Given the description of an element on the screen output the (x, y) to click on. 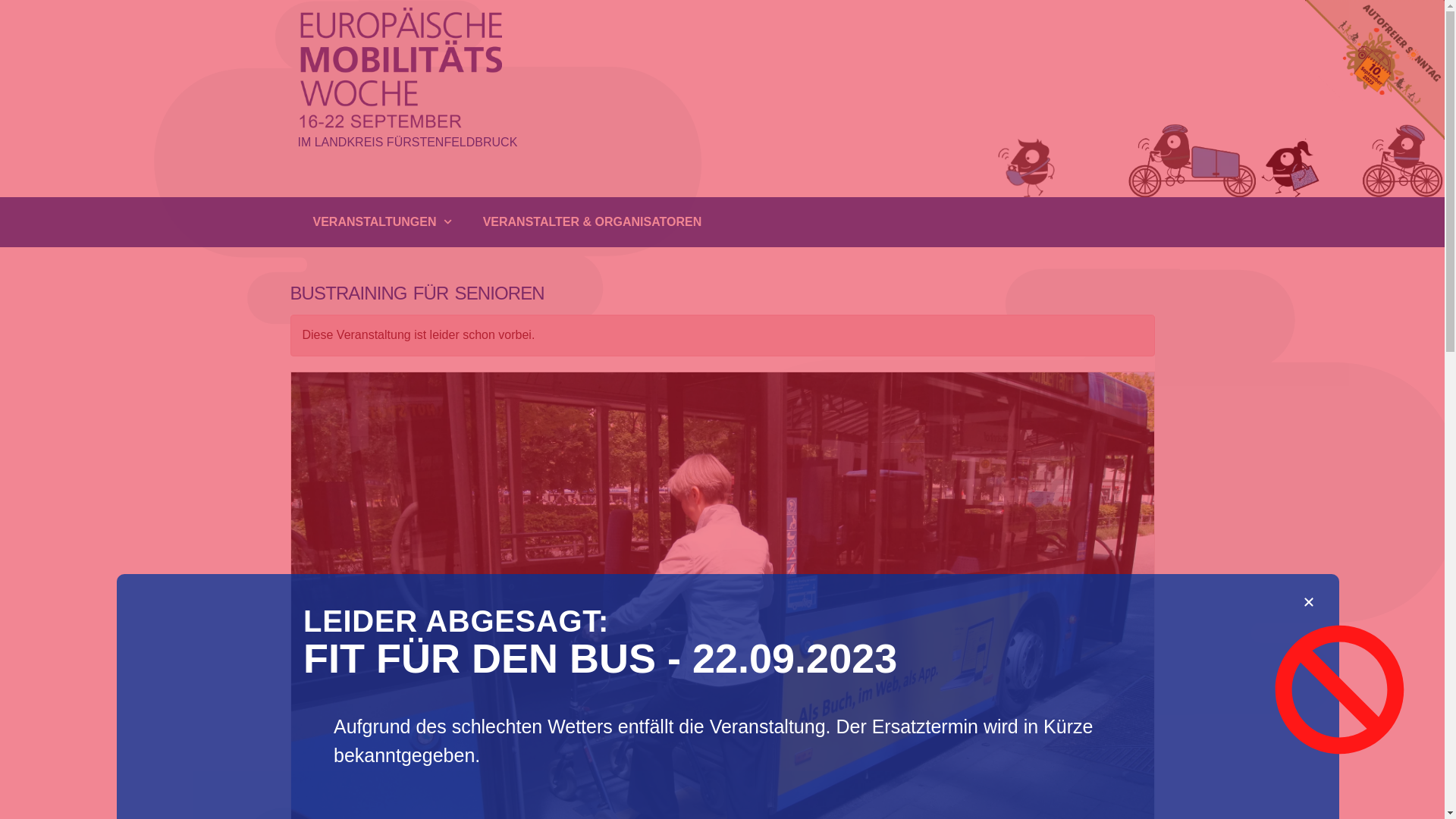
VERANSTALTUNGEN Element type: text (382, 221)
VERANSTALTER & ORGANISATOREN Element type: text (592, 221)
